Given the description of an element on the screen output the (x, y) to click on. 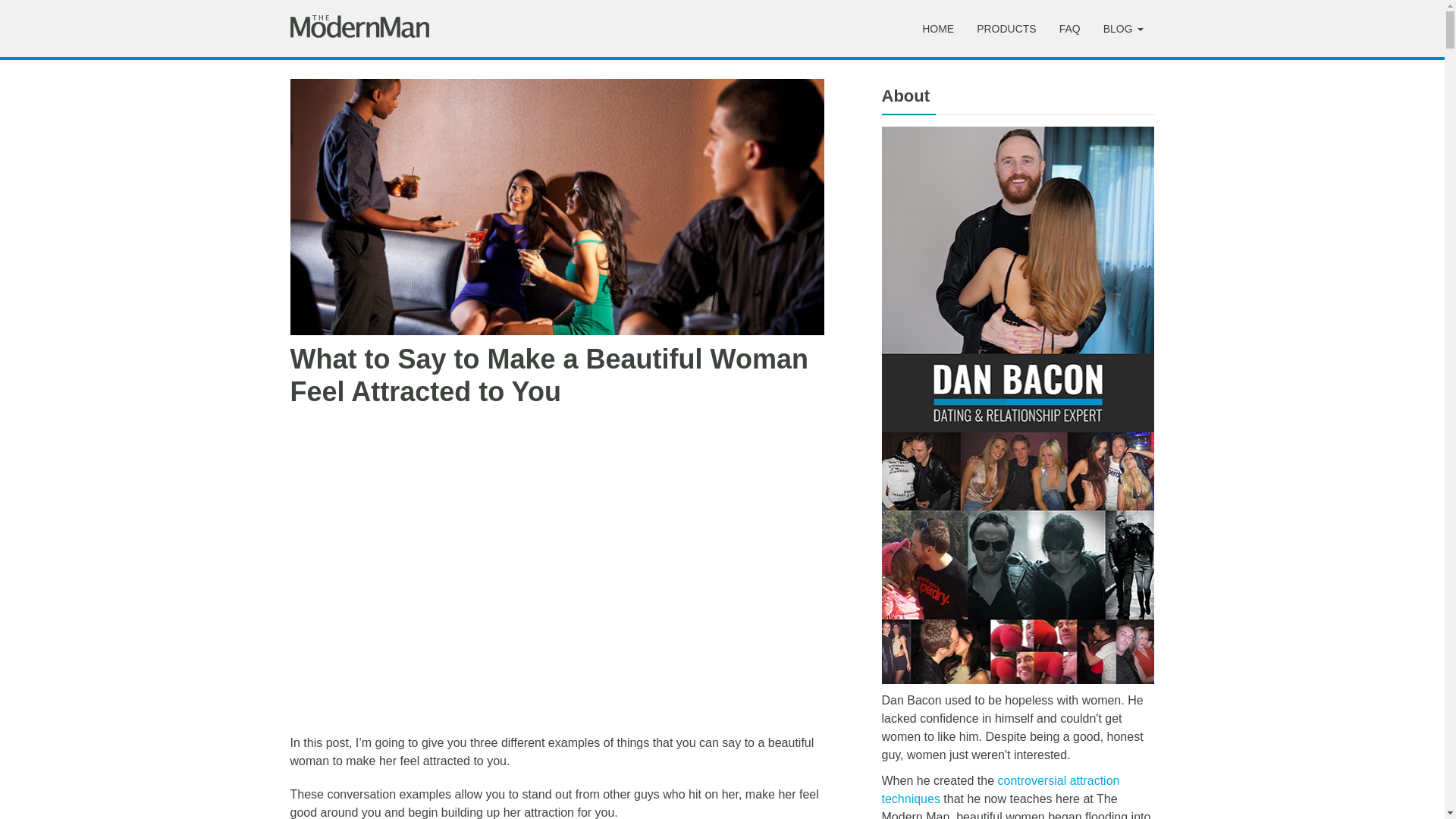
HOME (938, 28)
Home (938, 28)
FAQ (1070, 28)
FAQ (1070, 28)
PRODUCTS (1006, 28)
BLOG (1123, 28)
Products (1006, 28)
controversial attraction techniques (999, 789)
Blog (1123, 28)
